Given the description of an element on the screen output the (x, y) to click on. 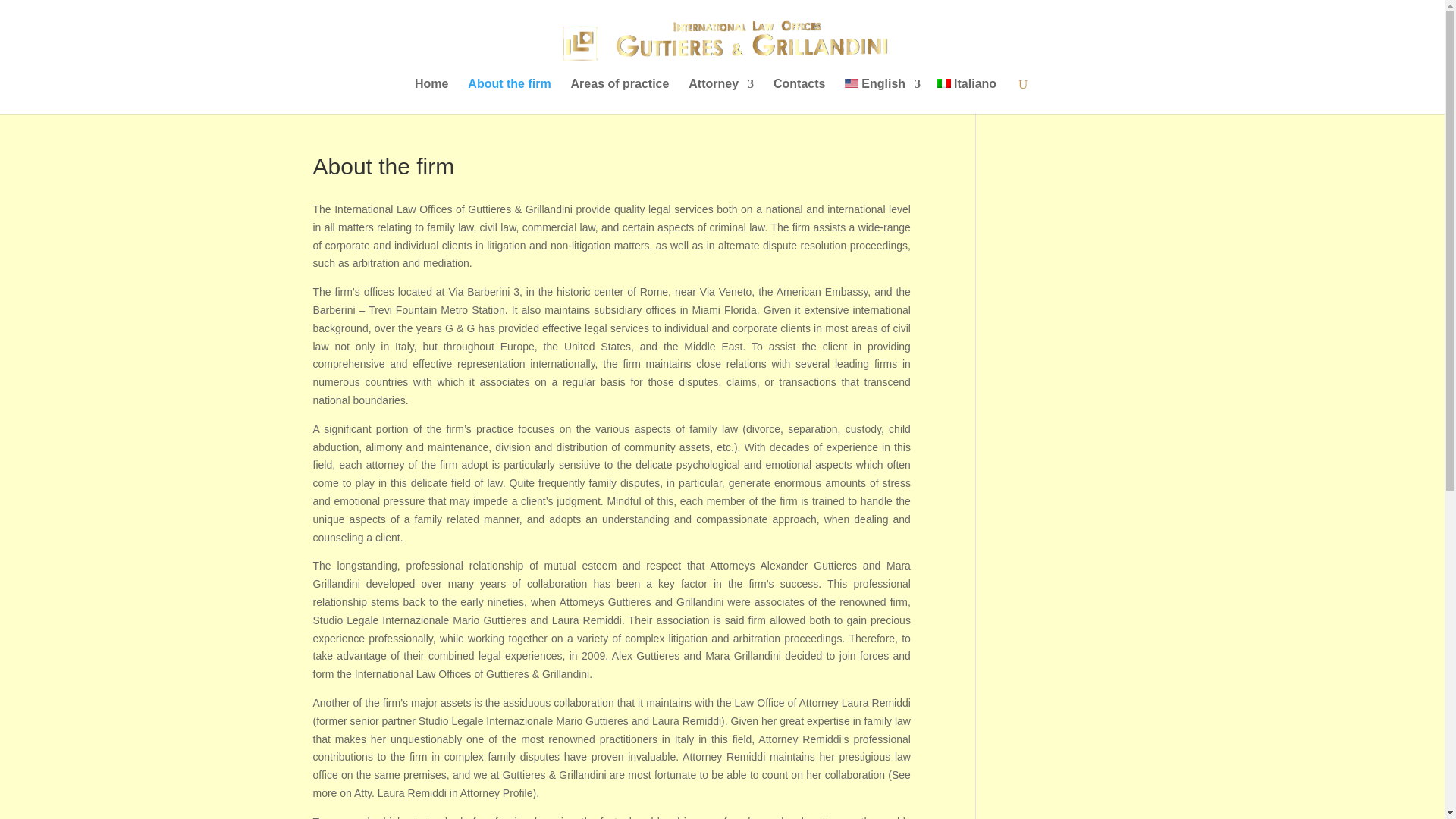
Home (431, 95)
Italiano (943, 82)
Attorney (721, 95)
English (882, 95)
Italiano (966, 95)
Areas of practice (619, 95)
English (851, 82)
Contacts (799, 95)
About the firm (508, 95)
